Given the description of an element on the screen output the (x, y) to click on. 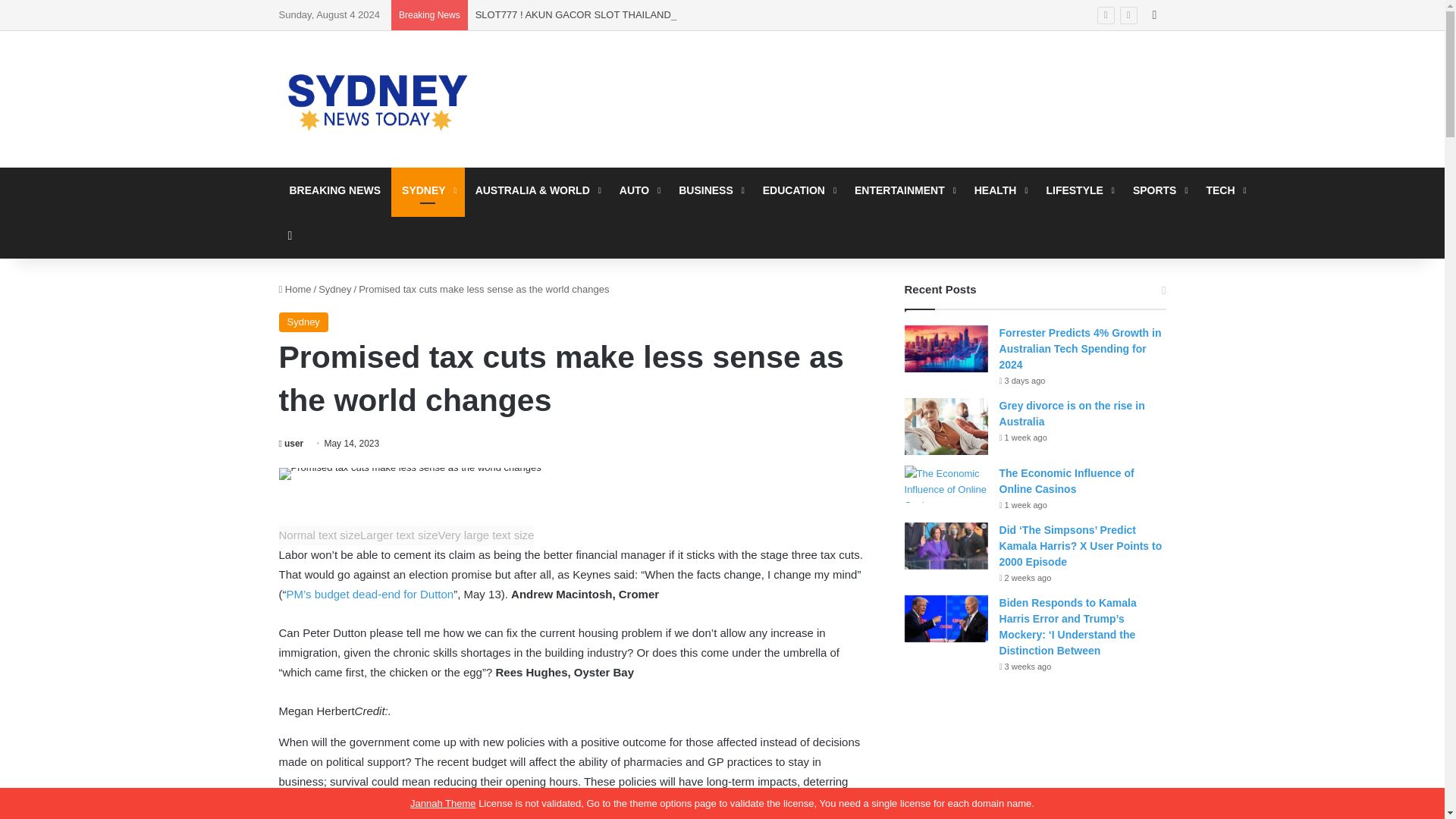
Promised tax cuts make less sense as the world changes (410, 473)
TECH (1224, 189)
Sydney (304, 322)
Sydney (334, 288)
BREAKING NEWS (335, 189)
EDUCATION (798, 189)
HEALTH (999, 189)
user (291, 443)
SYDNEY (427, 189)
ENTERTAINMENT (903, 189)
